Given the description of an element on the screen output the (x, y) to click on. 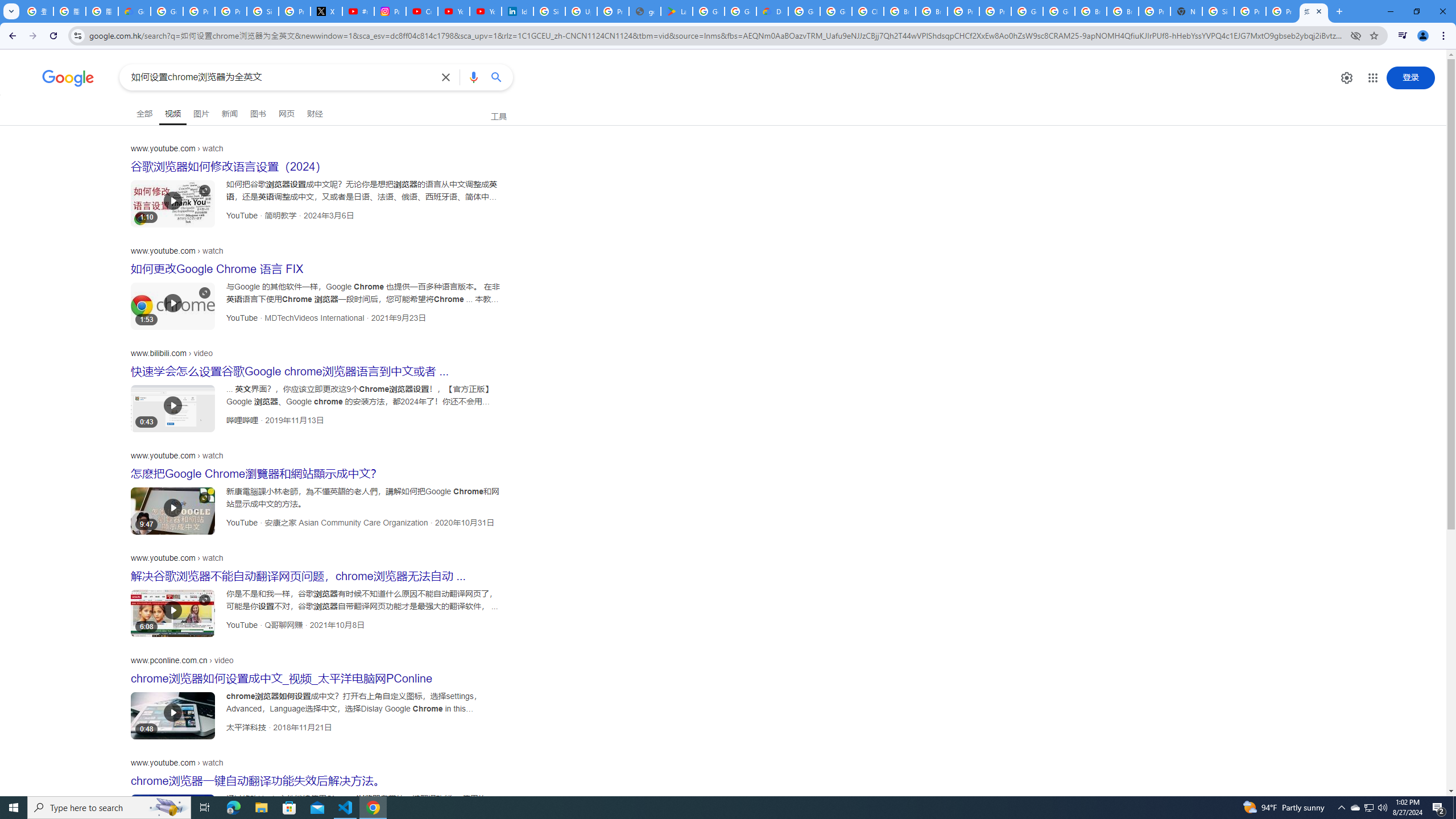
X (326, 11)
google_privacy_policy_en.pdf (644, 11)
